Given the description of an element on the screen output the (x, y) to click on. 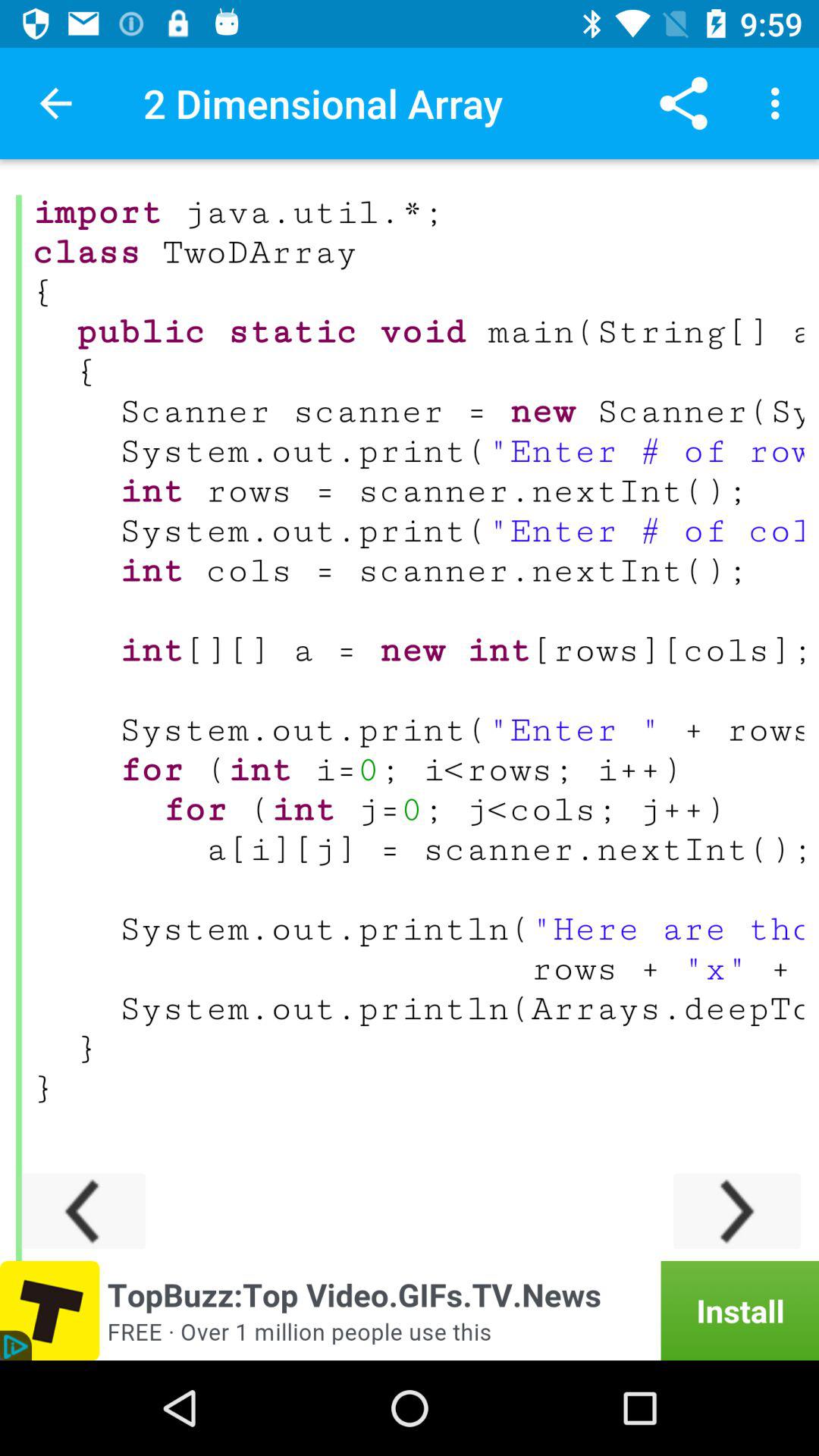
install an app (409, 1310)
